Given the description of an element on the screen output the (x, y) to click on. 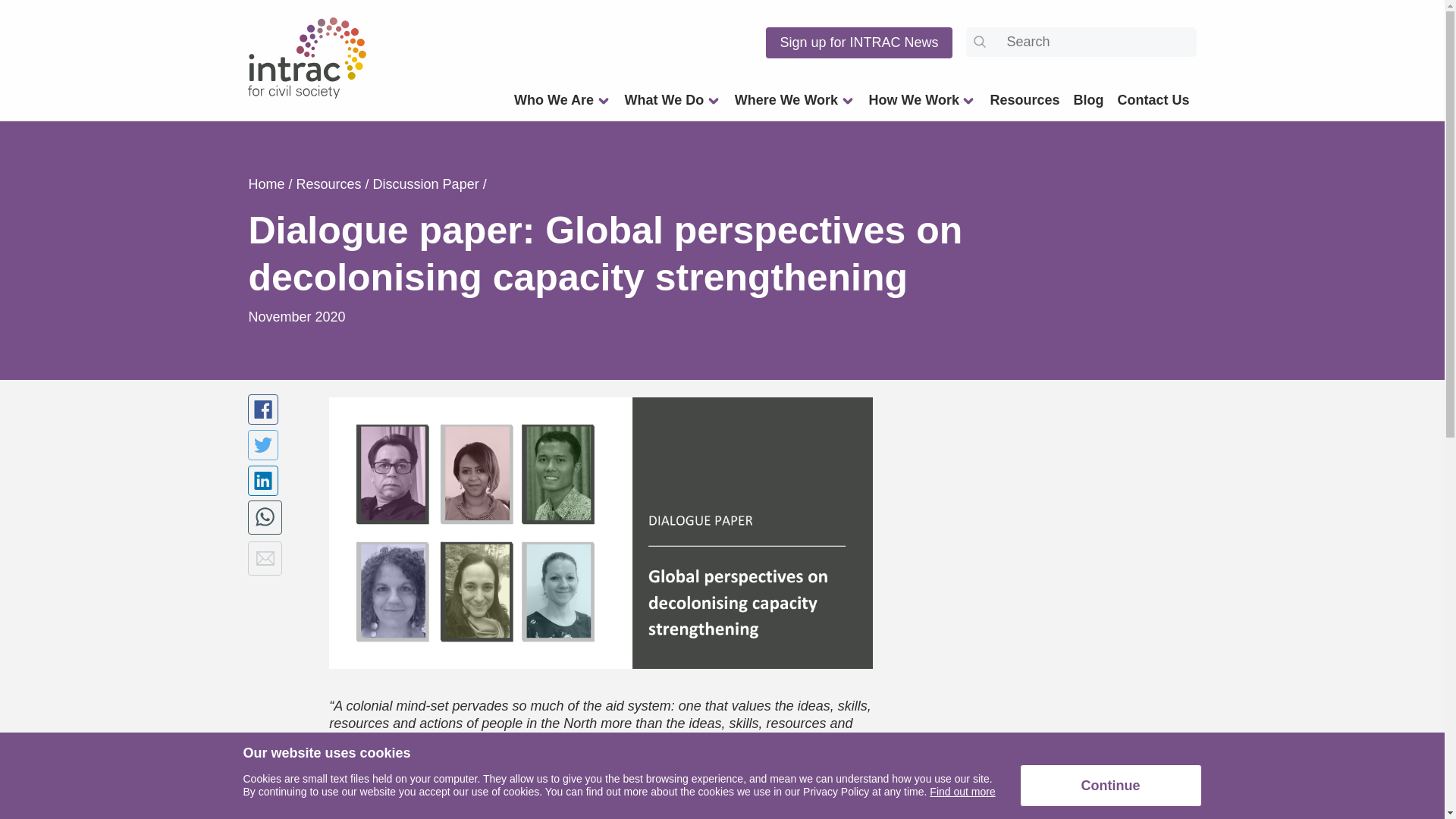
Share by Email (264, 558)
Sign up for INTRAC News (858, 42)
Find out more (962, 791)
Continue (1110, 785)
Find out more (962, 791)
